Given the description of an element on the screen output the (x, y) to click on. 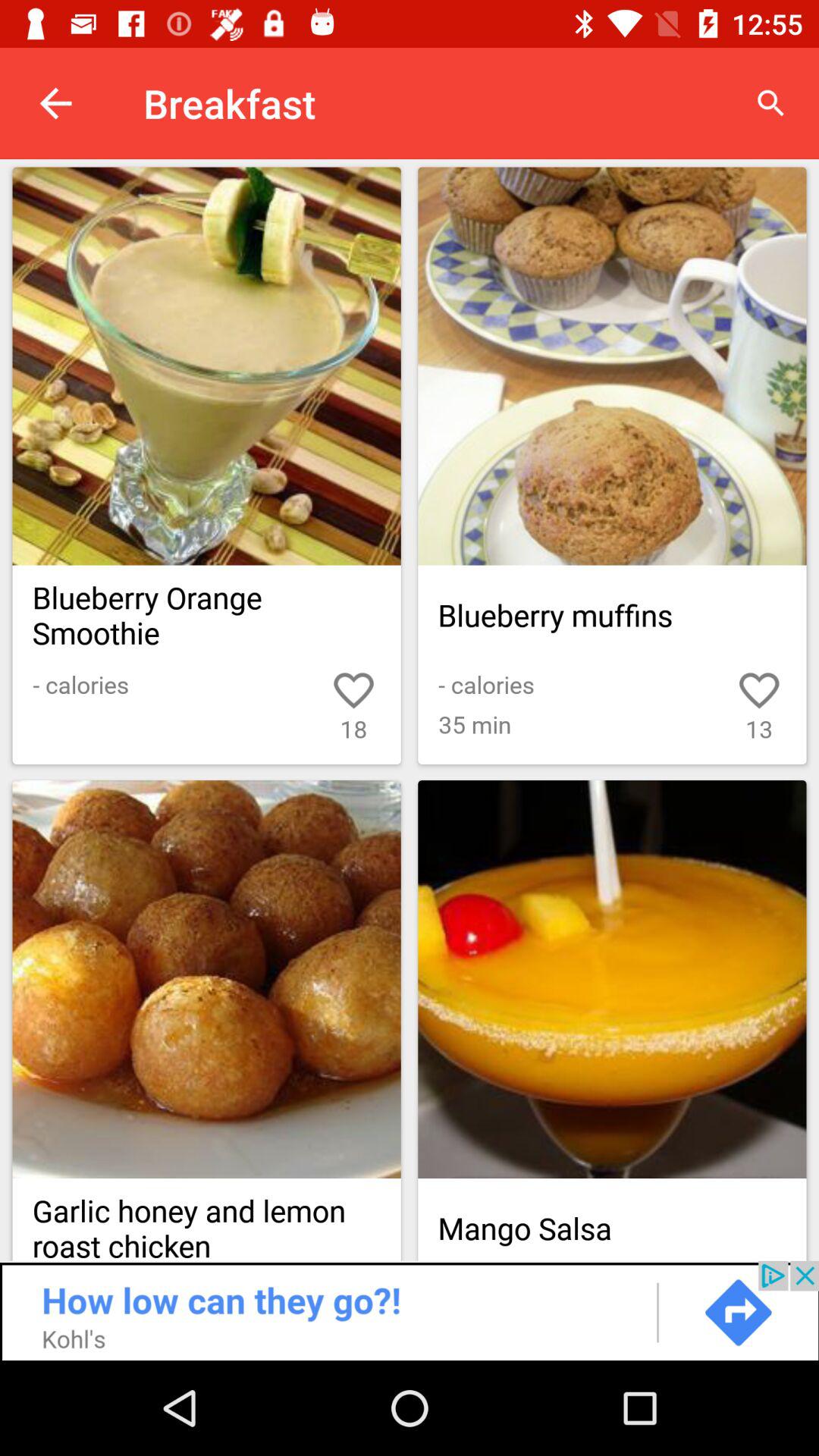
open new page (206, 366)
